Given the description of an element on the screen output the (x, y) to click on. 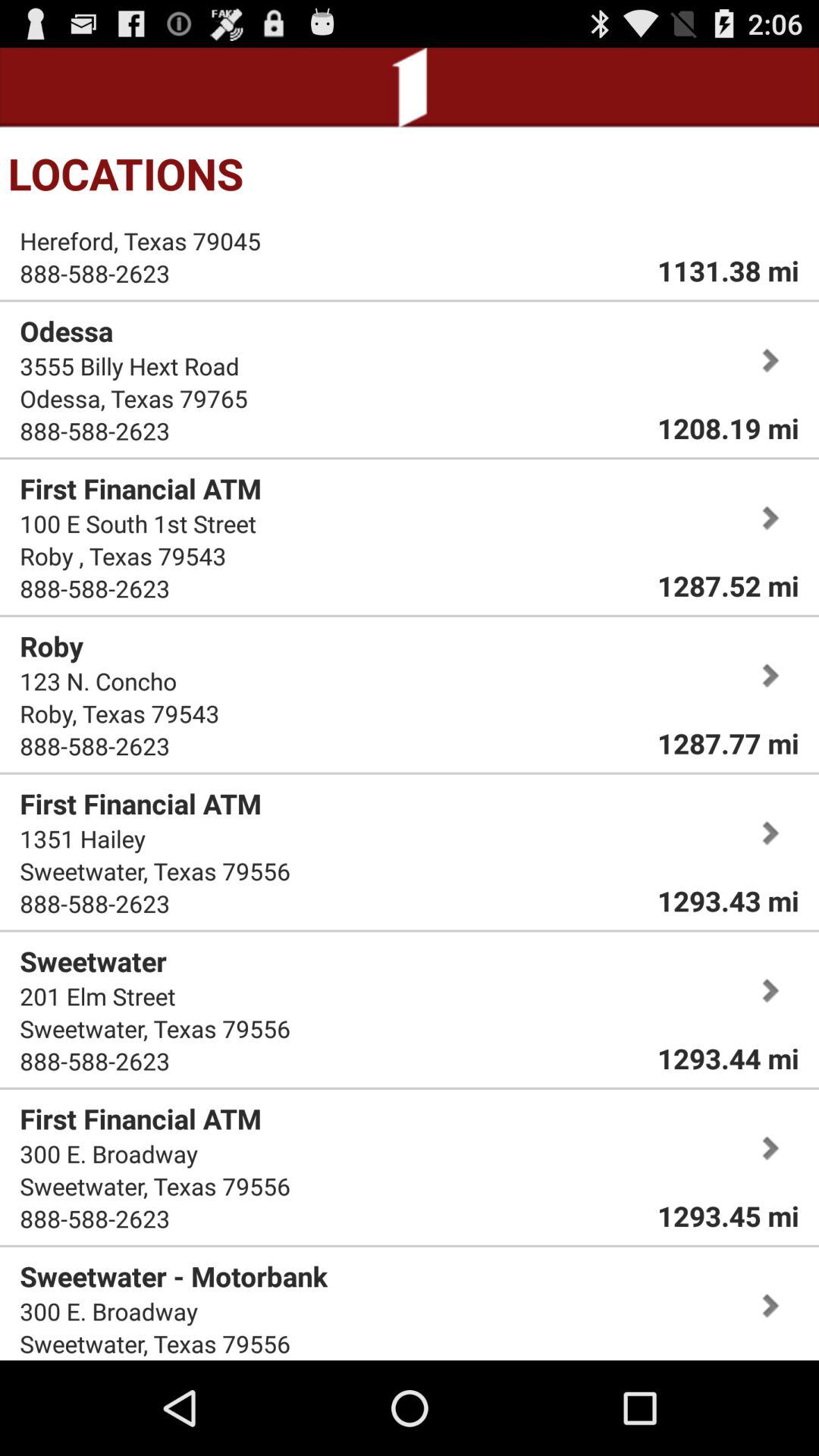
select the item above roby , texas 79543 app (137, 523)
